Given the description of an element on the screen output the (x, y) to click on. 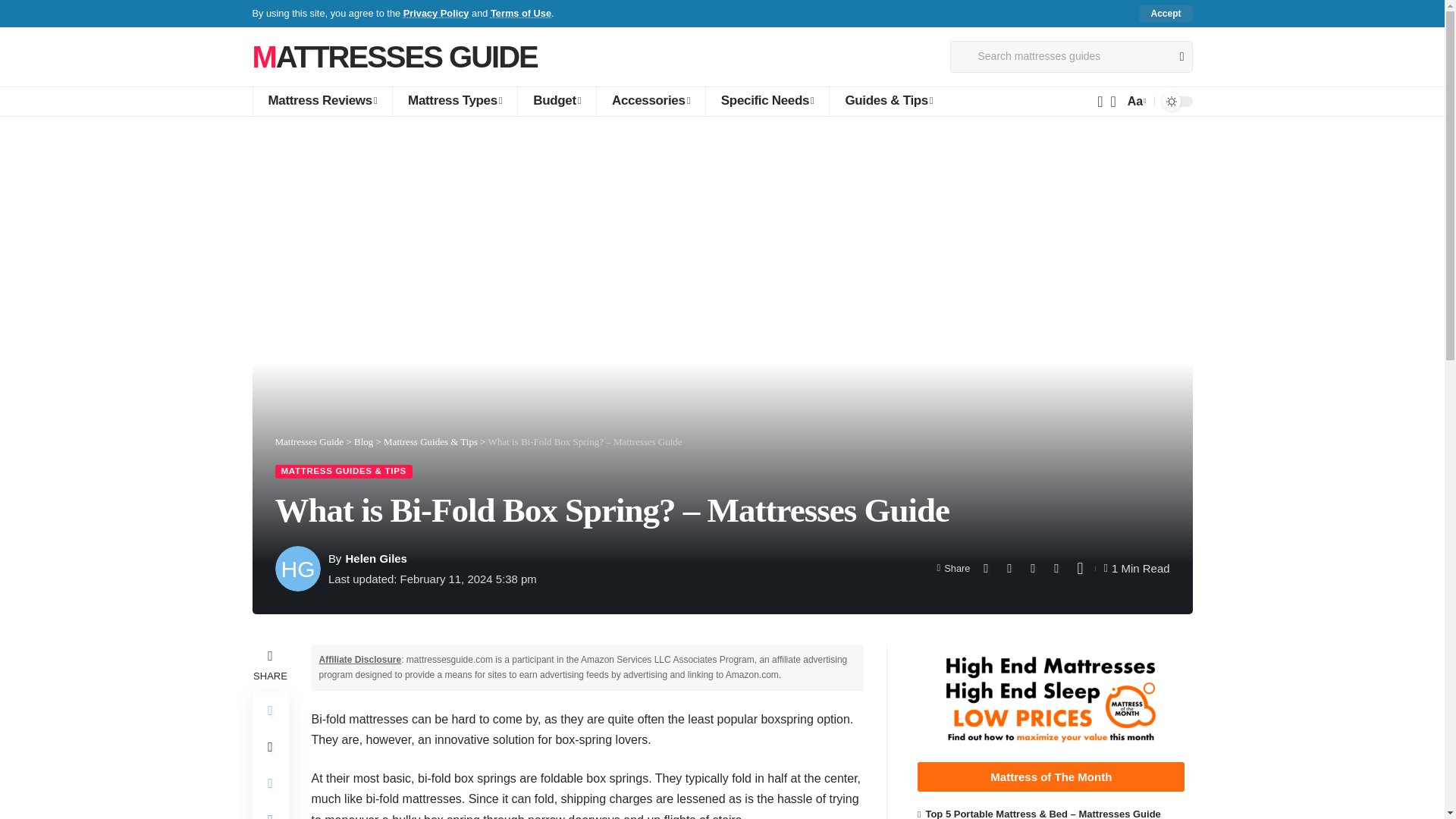
Accept (1165, 13)
Mattress Types (453, 101)
Privacy Policy (435, 12)
Budget (555, 101)
Go to Mattresses Guide. (309, 441)
MATTRESSES GUIDE (394, 56)
Search (1175, 56)
Specific Needs (766, 101)
Terms of Use (520, 12)
Mattress Reviews (321, 101)
Accessories (649, 101)
Mattresses Guide (394, 56)
Go to Blog. (362, 441)
